Given the description of an element on the screen output the (x, y) to click on. 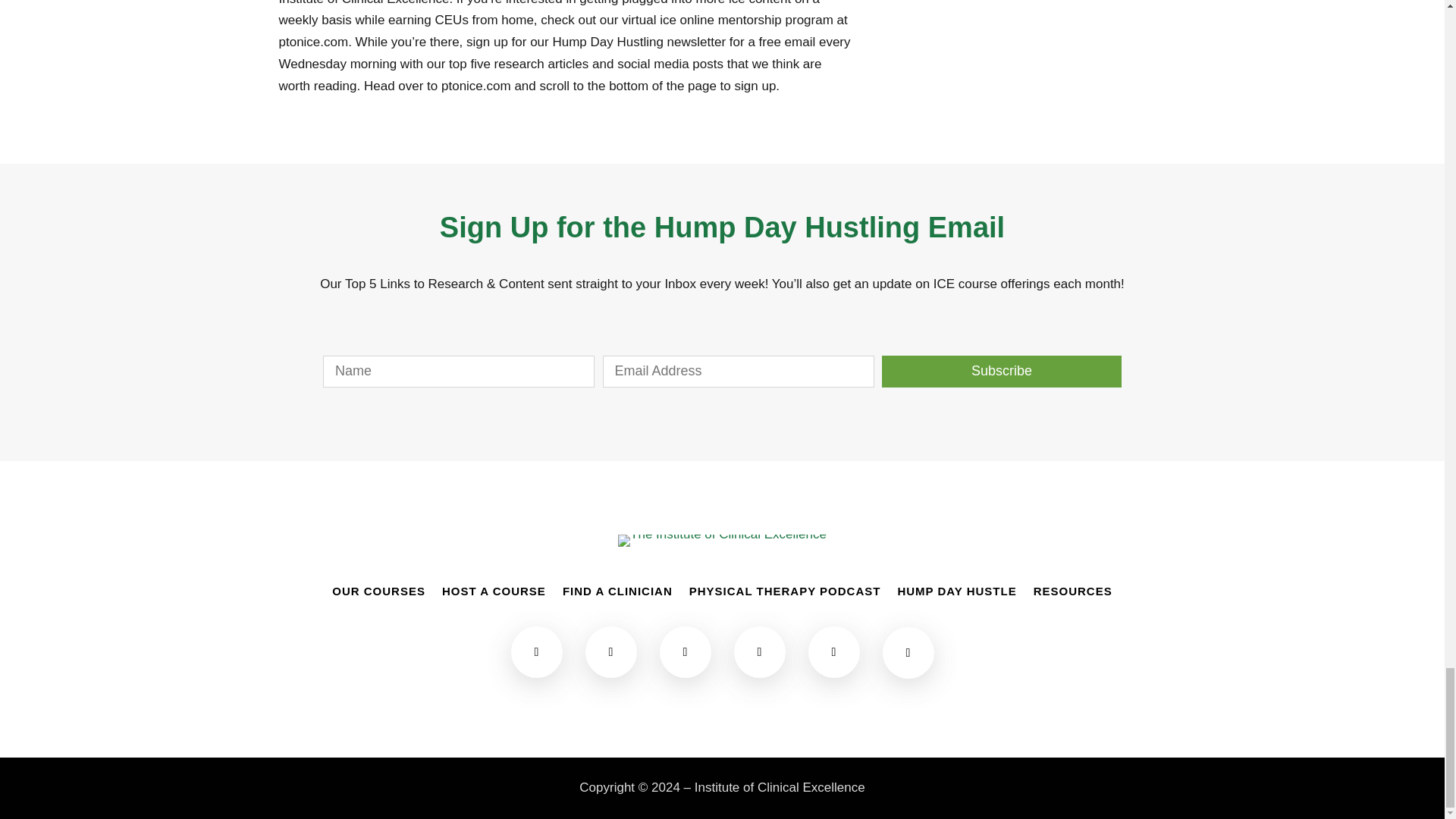
Follow on Instagram (611, 652)
Follow on X (685, 652)
The Institute of Clinical Excellence (722, 540)
Follow on Facebook (536, 652)
